Given the description of an element on the screen output the (x, y) to click on. 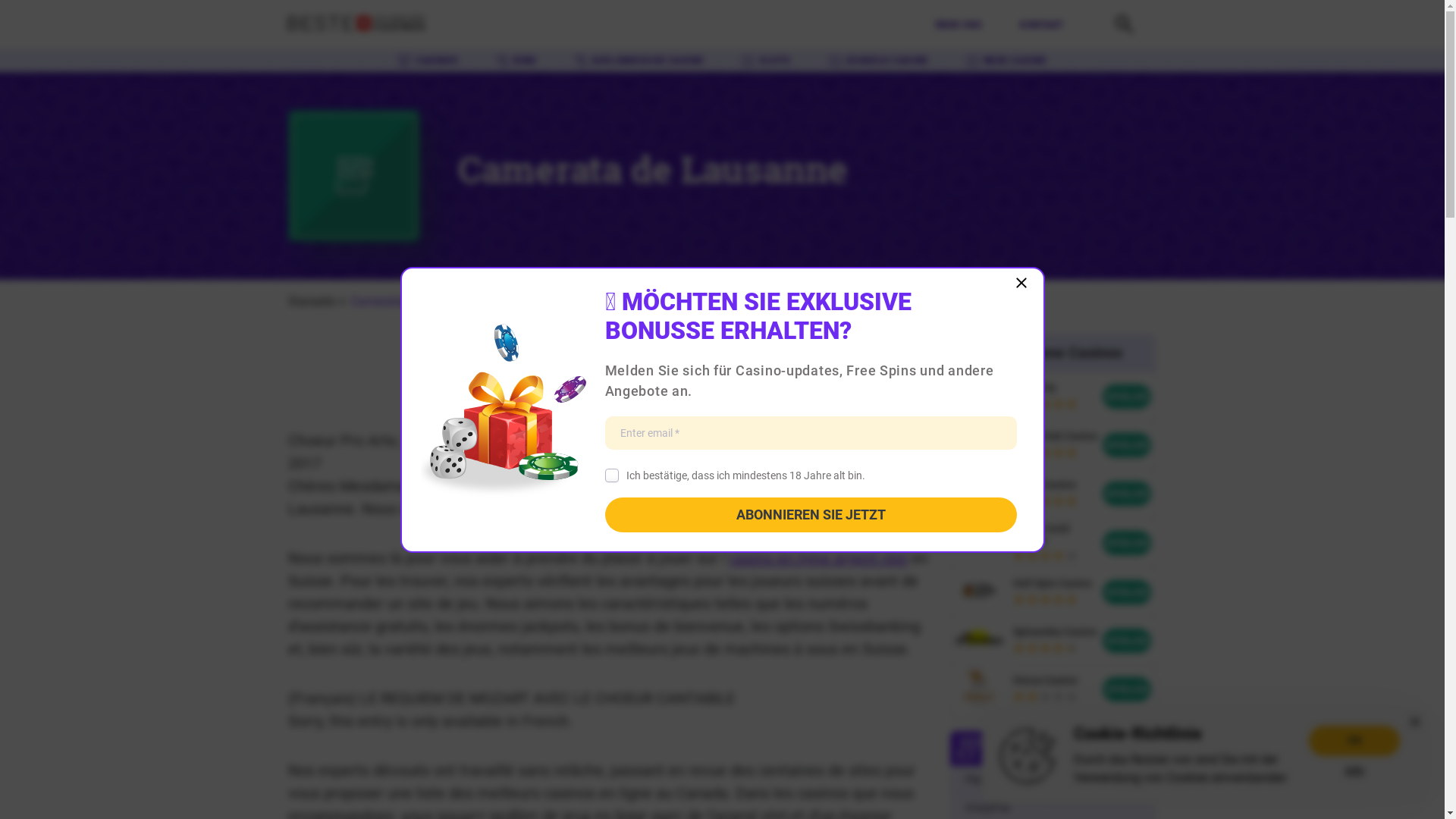
SPIELEN Element type: text (1126, 688)
SPIELEN Element type: text (1126, 445)
info Element type: text (1353, 770)
SPIELEN Element type: text (1126, 591)
NEUE CASINO Element type: text (1006, 60)
SPIELEN Element type: text (1126, 639)
CrazyFox Element type: text (987, 807)
SPIELEN Element type: text (1126, 493)
SPIELEN Element type: text (1126, 542)
SPIELEN Element type: text (1126, 396)
ECHGELD CASINO Element type: text (878, 60)
CASINOS Element type: text (428, 60)
KONTAKT Element type: text (1041, 24)
Suchen Element type: text (1123, 32)
Playamo Element type: text (986, 779)
BONI Element type: text (515, 60)
SLOTS Element type: text (765, 60)
OK Element type: text (1353, 739)
Starseite Element type: text (311, 301)
